Given the description of an element on the screen output the (x, y) to click on. 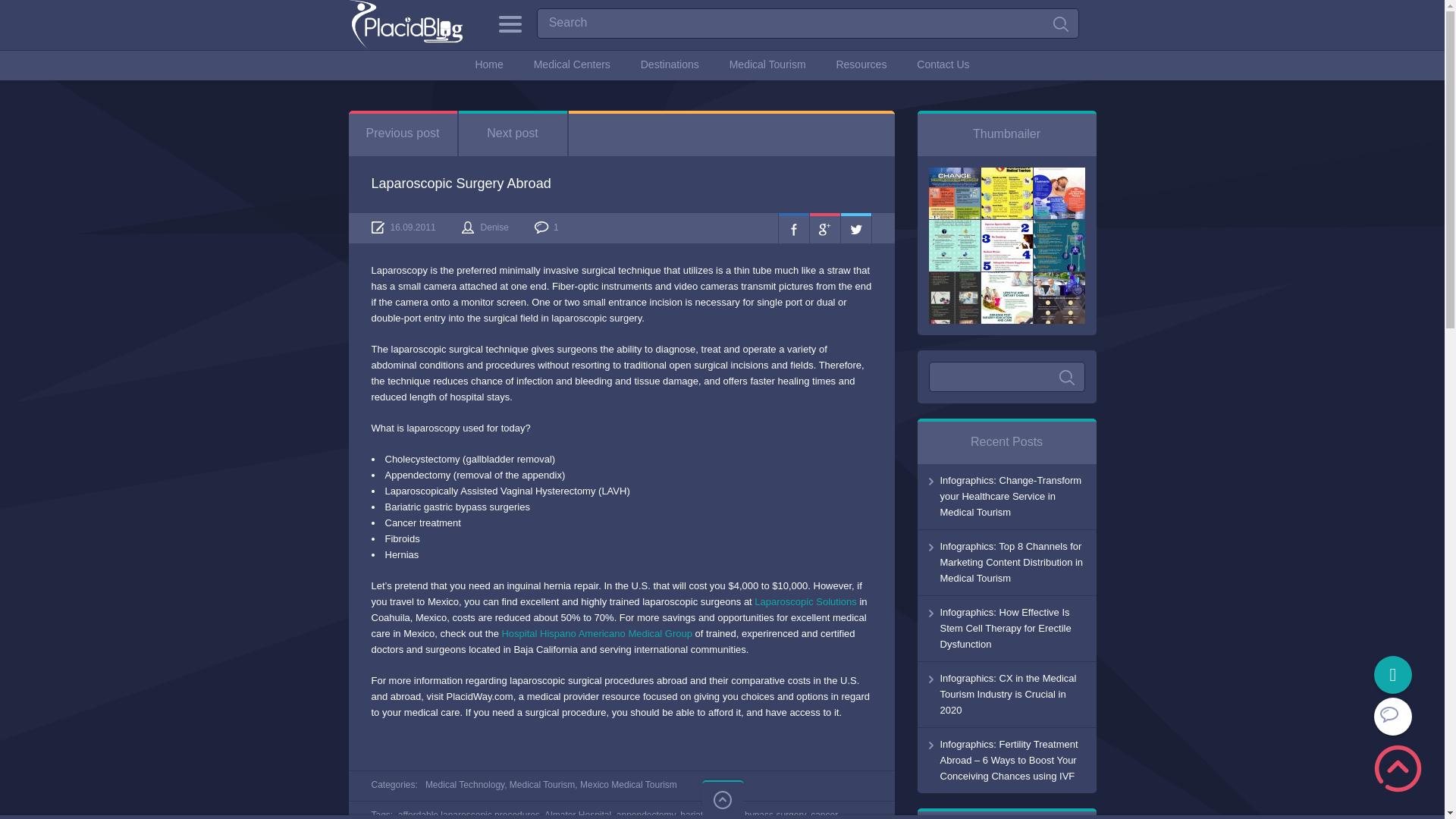
Search (1066, 377)
Search (1060, 23)
Posts by Denise (494, 226)
Search (807, 23)
Share on Twitter (855, 227)
Share on Facebook (792, 227)
Categories (509, 23)
Total comments (546, 227)
Scroll to Top (1398, 768)
